Given the description of an element on the screen output the (x, y) to click on. 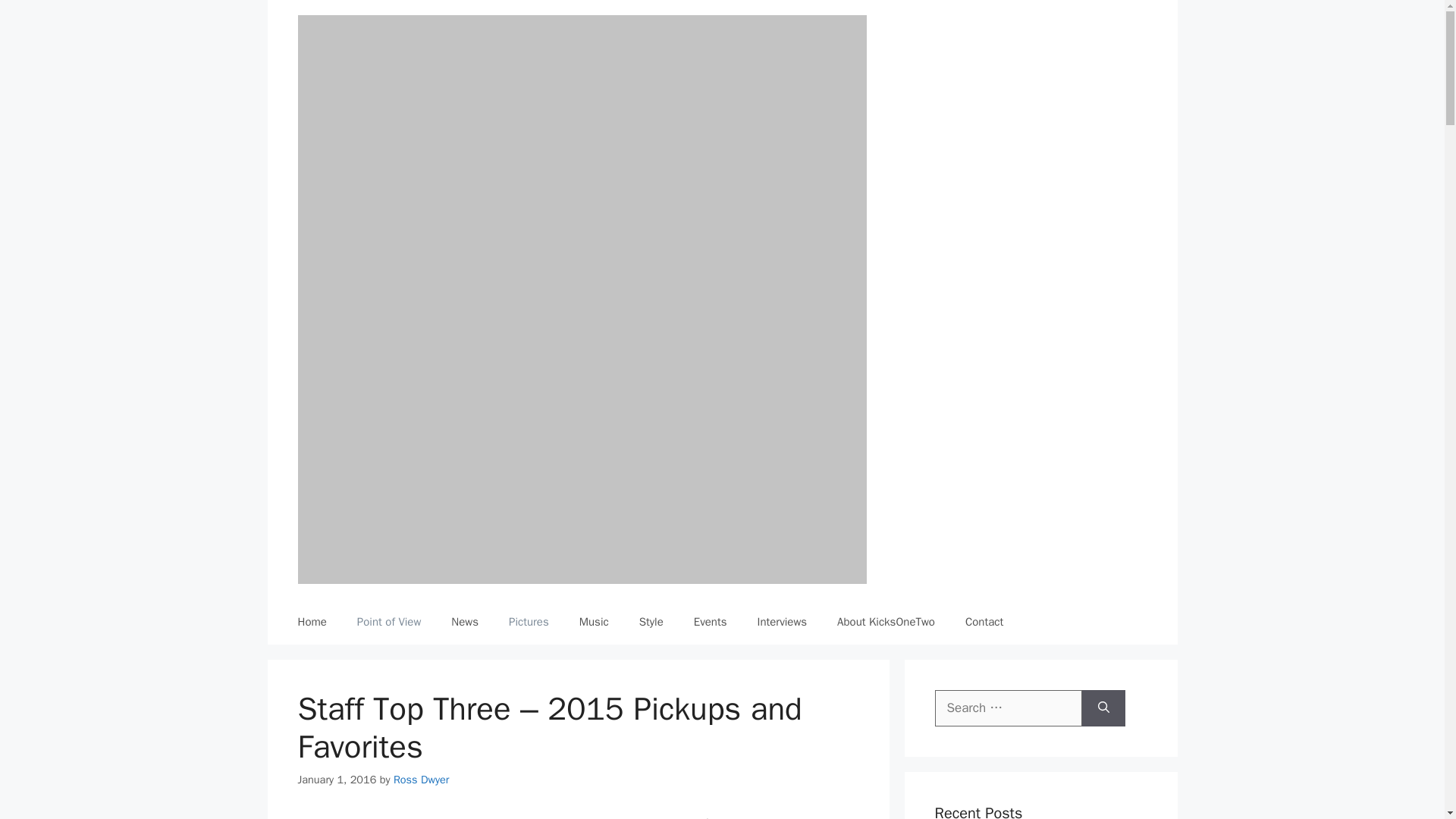
Events (710, 621)
Home (311, 621)
Style (651, 621)
Ross Dwyer (421, 779)
Contact (983, 621)
Search for: (1007, 708)
View all posts by Ross Dwyer (421, 779)
Interviews (781, 621)
Music (594, 621)
Pictures (528, 621)
